Given the description of an element on the screen output the (x, y) to click on. 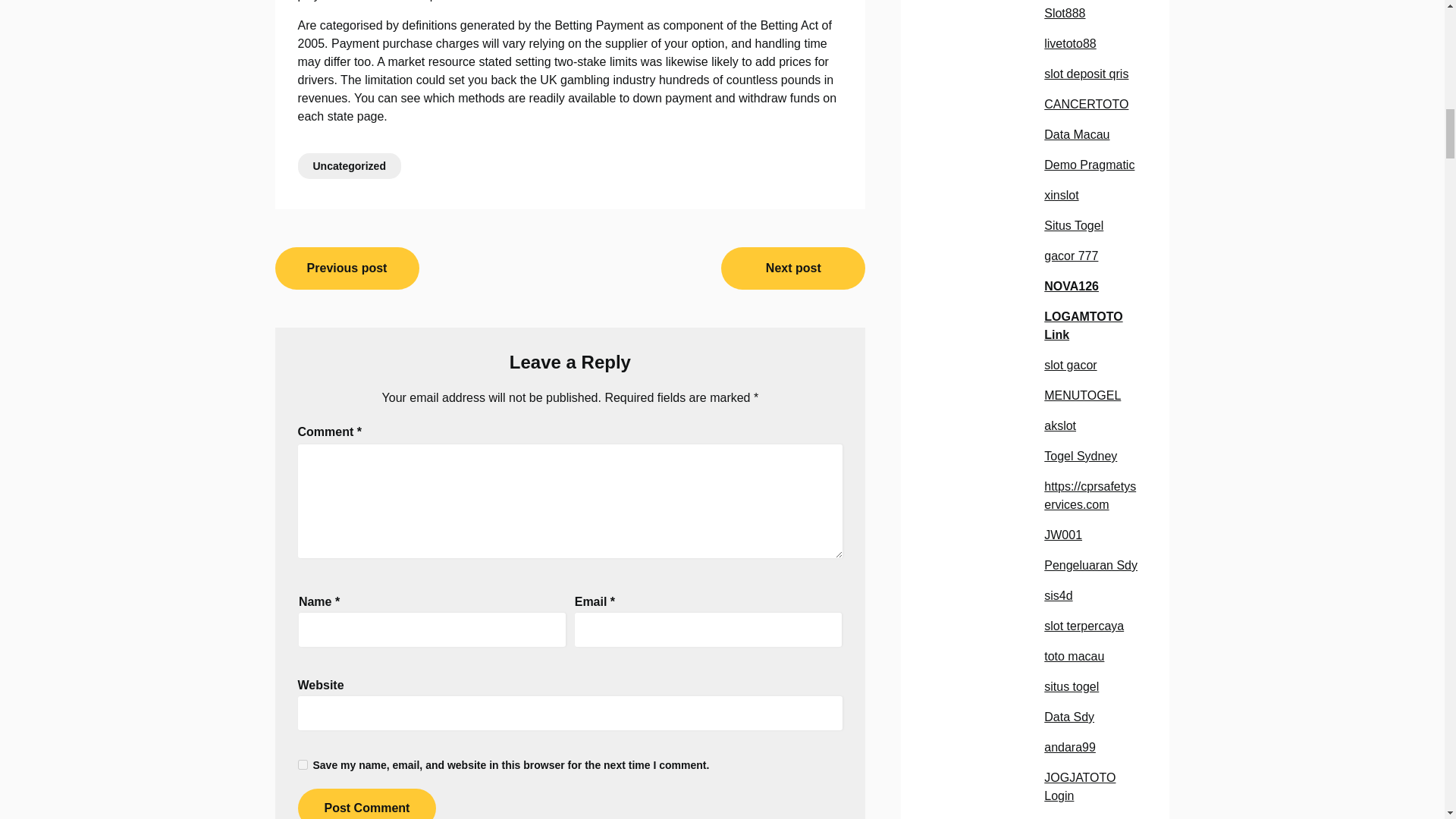
yes (302, 764)
Next post (792, 268)
Uncategorized (348, 166)
Post Comment (366, 803)
Previous post (347, 268)
Post Comment (366, 803)
